Given the description of an element on the screen output the (x, y) to click on. 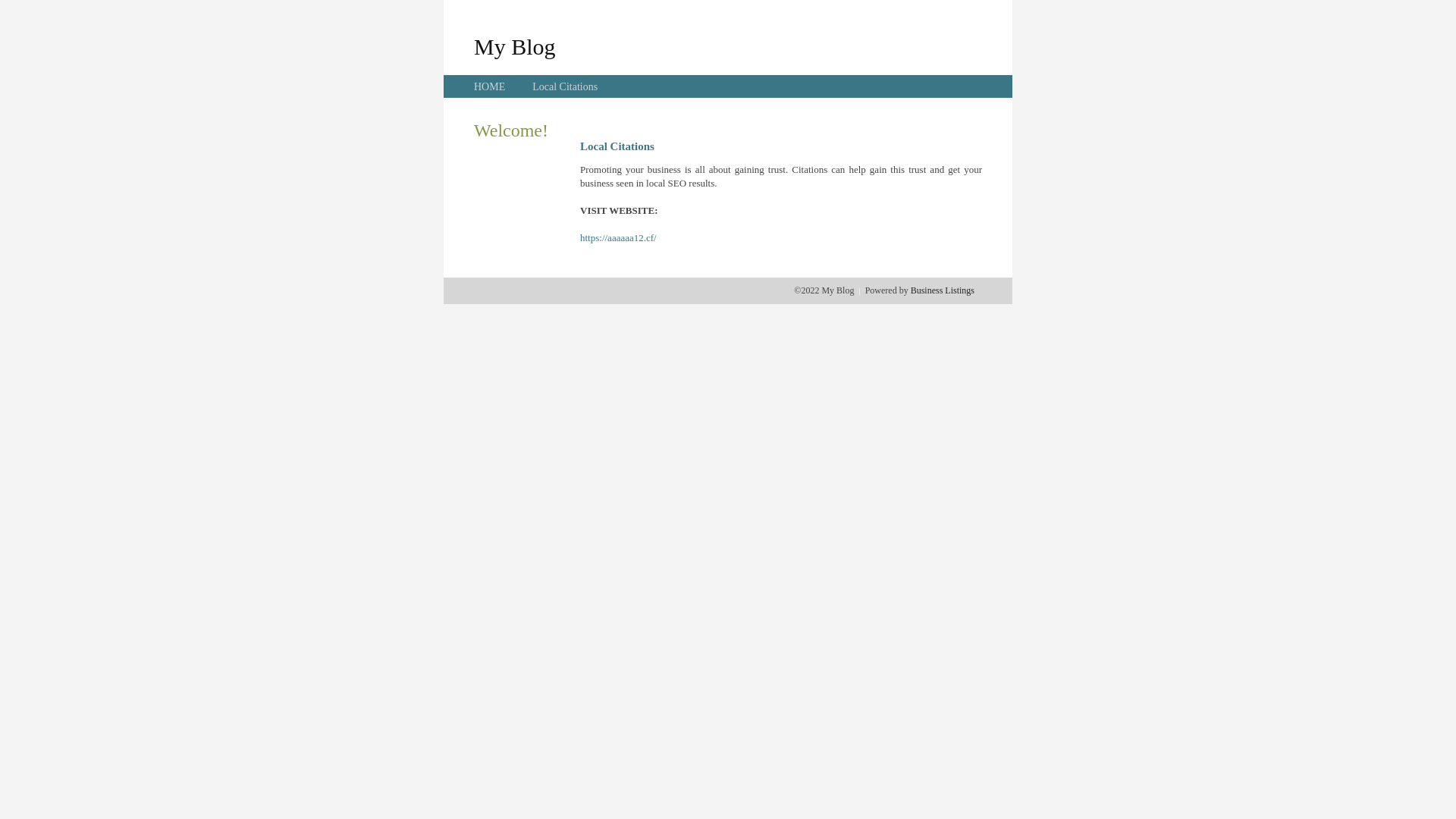
Business Listings Element type: text (942, 290)
HOME Element type: text (489, 86)
Local Citations Element type: text (564, 86)
https://aaaaaa12.cf/ Element type: text (618, 237)
My Blog Element type: text (514, 46)
